Given the description of an element on the screen output the (x, y) to click on. 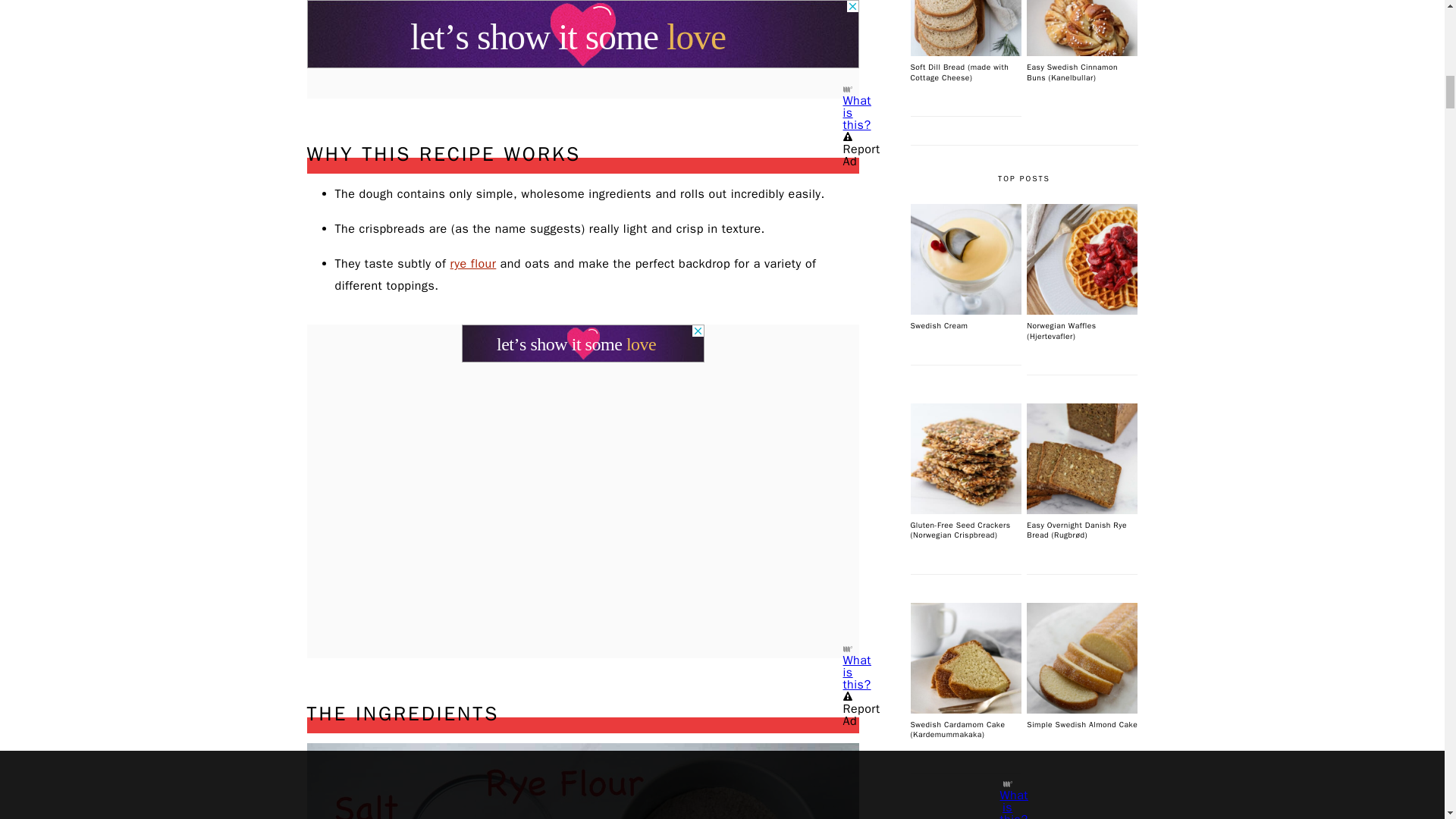
Swedish Cream (965, 311)
rye flour (472, 263)
3rd party ad content (582, 343)
